Given the description of an element on the screen output the (x, y) to click on. 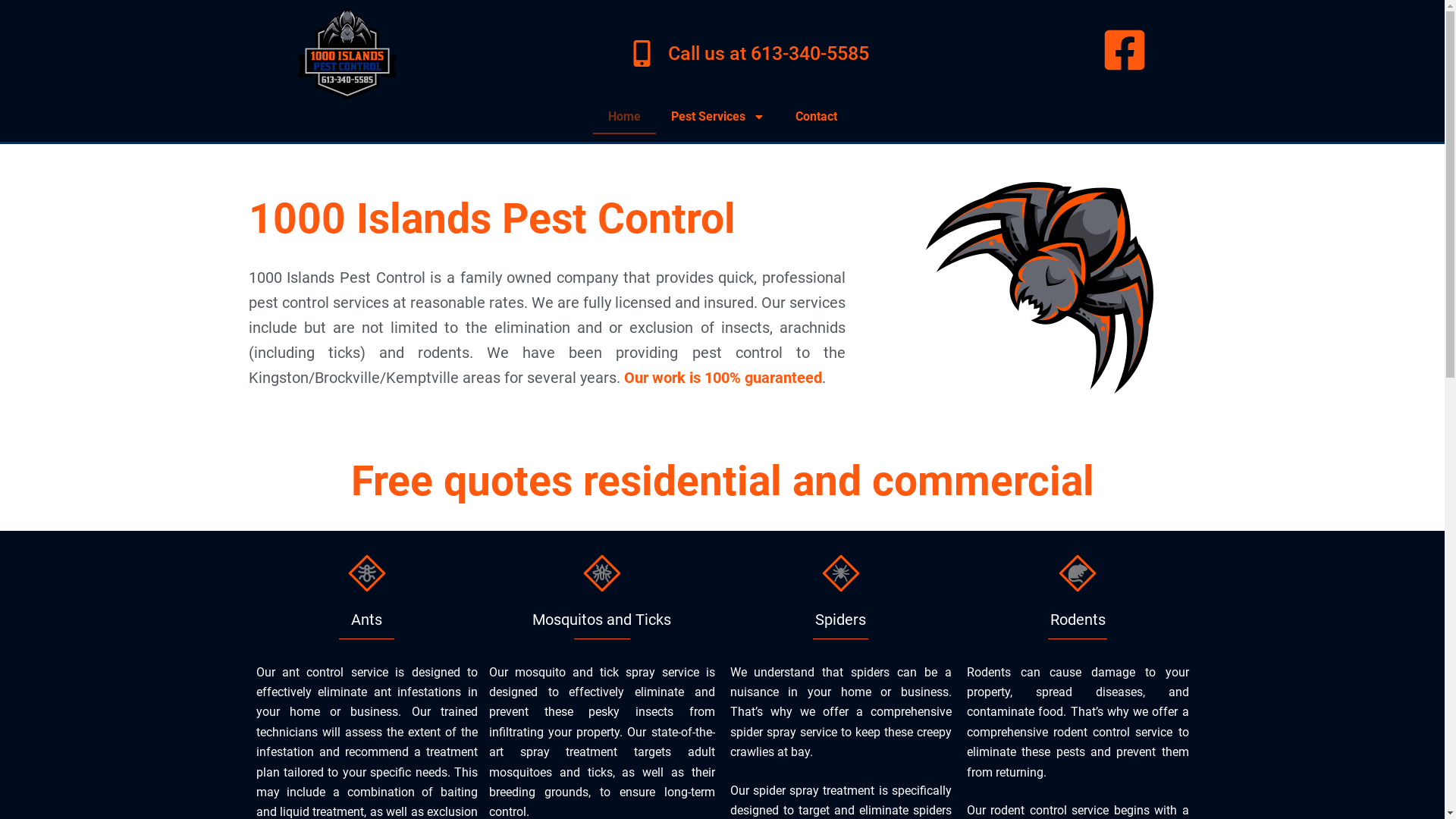
Pest Services Element type: text (717, 116)
Contact Element type: text (815, 116)
Call us at 613-340-5585 Element type: text (748, 53)
Home Element type: text (624, 116)
Skip to content Element type: text (15, 7)
